Given the description of an element on the screen output the (x, y) to click on. 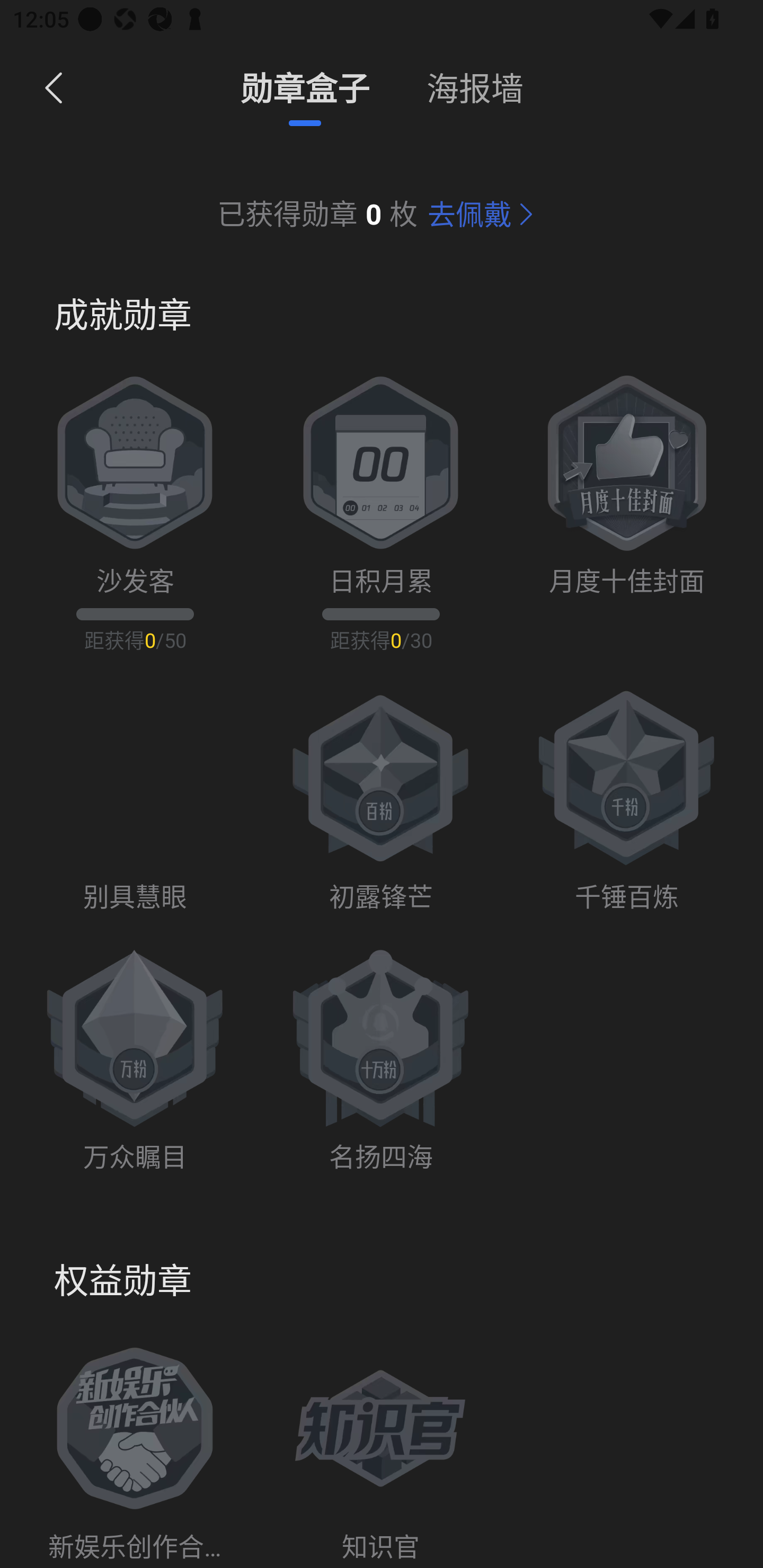
返回，可点击 (49, 87)
已选中勋章盒子 (305, 87)
海报墙，可选中 (475, 87)
